Given the description of an element on the screen output the (x, y) to click on. 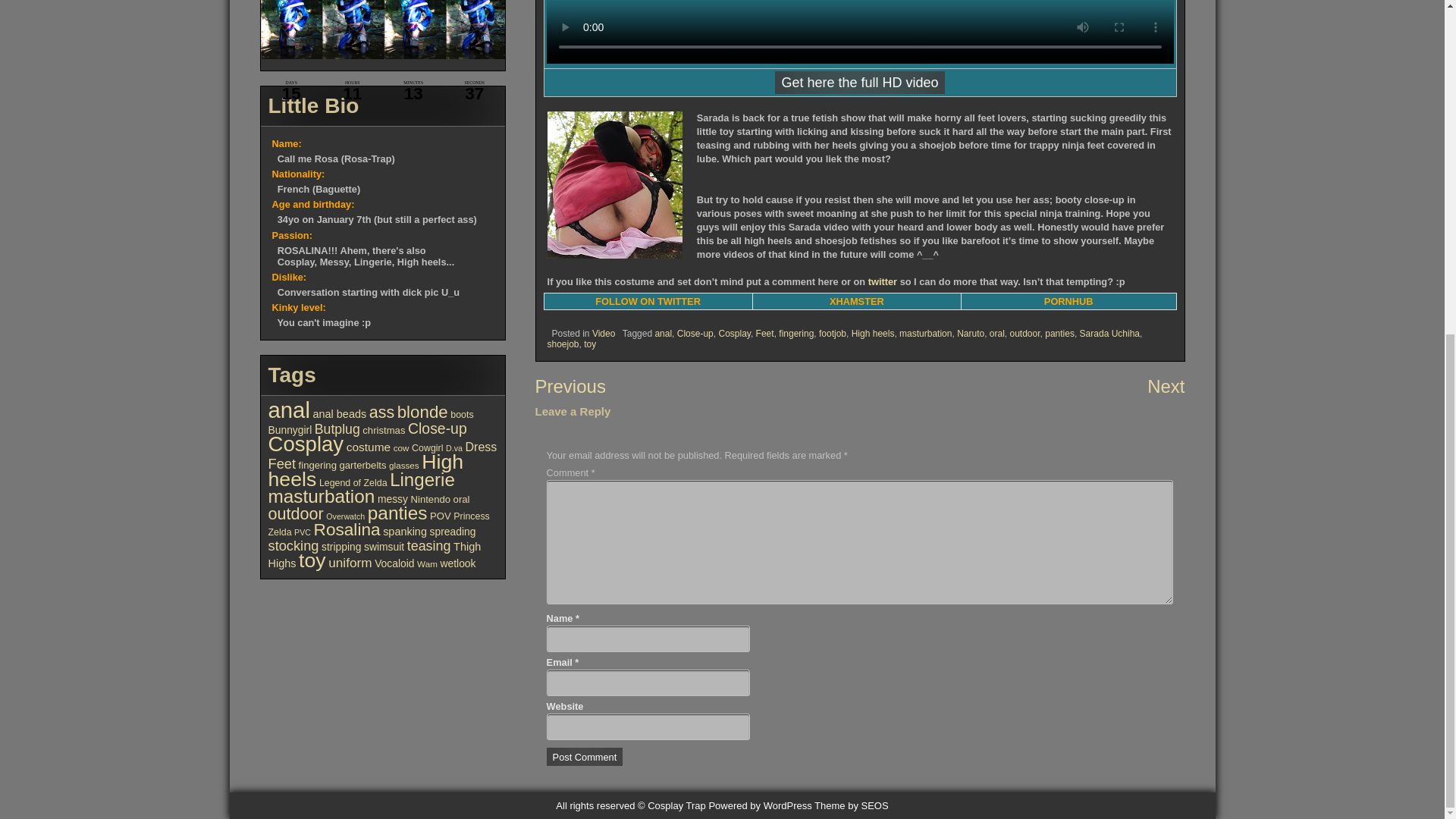
WordPress (758, 805)
twitter (881, 275)
Get here the full HD video (858, 82)
Get here the full HD video (858, 105)
Naruto (970, 331)
FOLLOW ON TWITTER (647, 286)
panties (1059, 333)
footjob (831, 331)
Sarada Uchiha (1110, 333)
toy (589, 344)
